Given the description of an element on the screen output the (x, y) to click on. 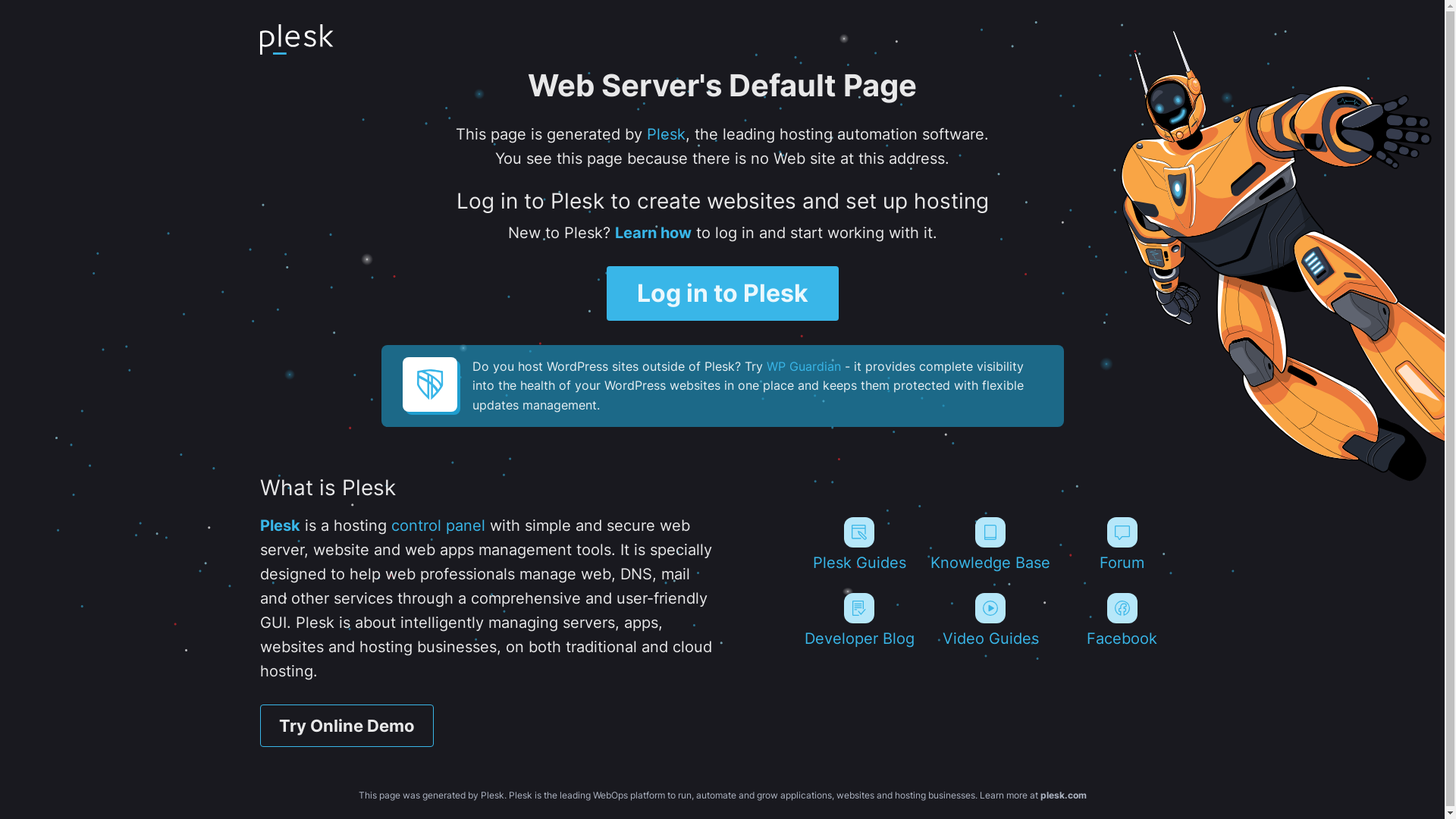
Developer Blog Element type: text (858, 620)
Learn how Element type: text (652, 232)
Try Online Demo Element type: text (346, 725)
Plesk Element type: text (279, 525)
WP Guardian Element type: text (802, 365)
control panel Element type: text (438, 525)
Video Guides Element type: text (990, 620)
Plesk Guides Element type: text (858, 544)
Facebook Element type: text (1121, 620)
Plesk Element type: text (665, 134)
Knowledge Base Element type: text (990, 544)
Log in to Plesk Element type: text (722, 293)
plesk.com Element type: text (1063, 794)
Forum Element type: text (1121, 544)
